Given the description of an element on the screen output the (x, y) to click on. 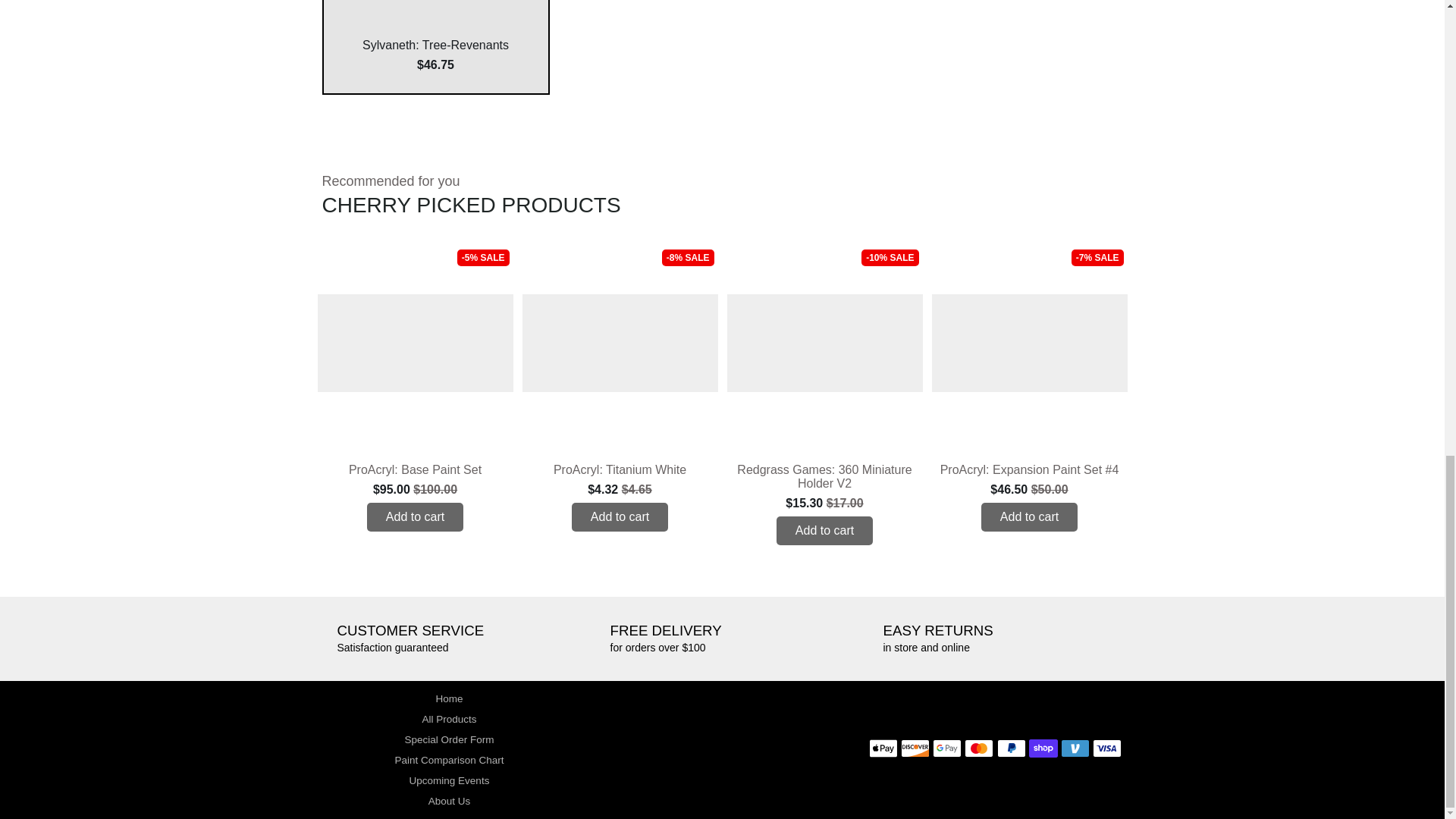
Visa (1107, 748)
Venmo (1075, 748)
Mastercard (977, 748)
Shop Pay (1043, 748)
Google Pay (946, 748)
Discover (915, 748)
Apple Pay (883, 748)
PayPal (1011, 748)
